Given the description of an element on the screen output the (x, y) to click on. 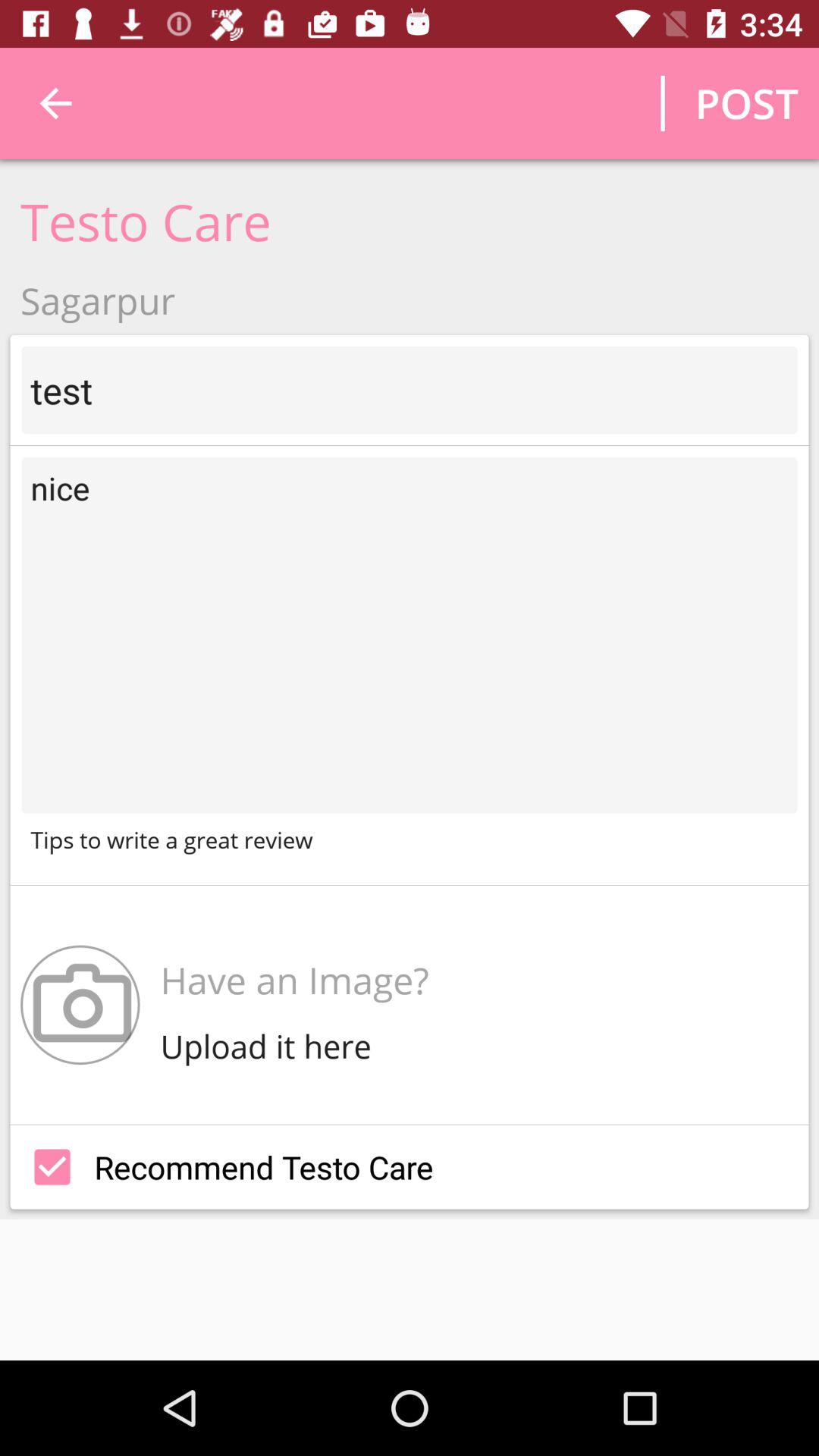
swipe until the post (746, 103)
